Given the description of an element on the screen output the (x, y) to click on. 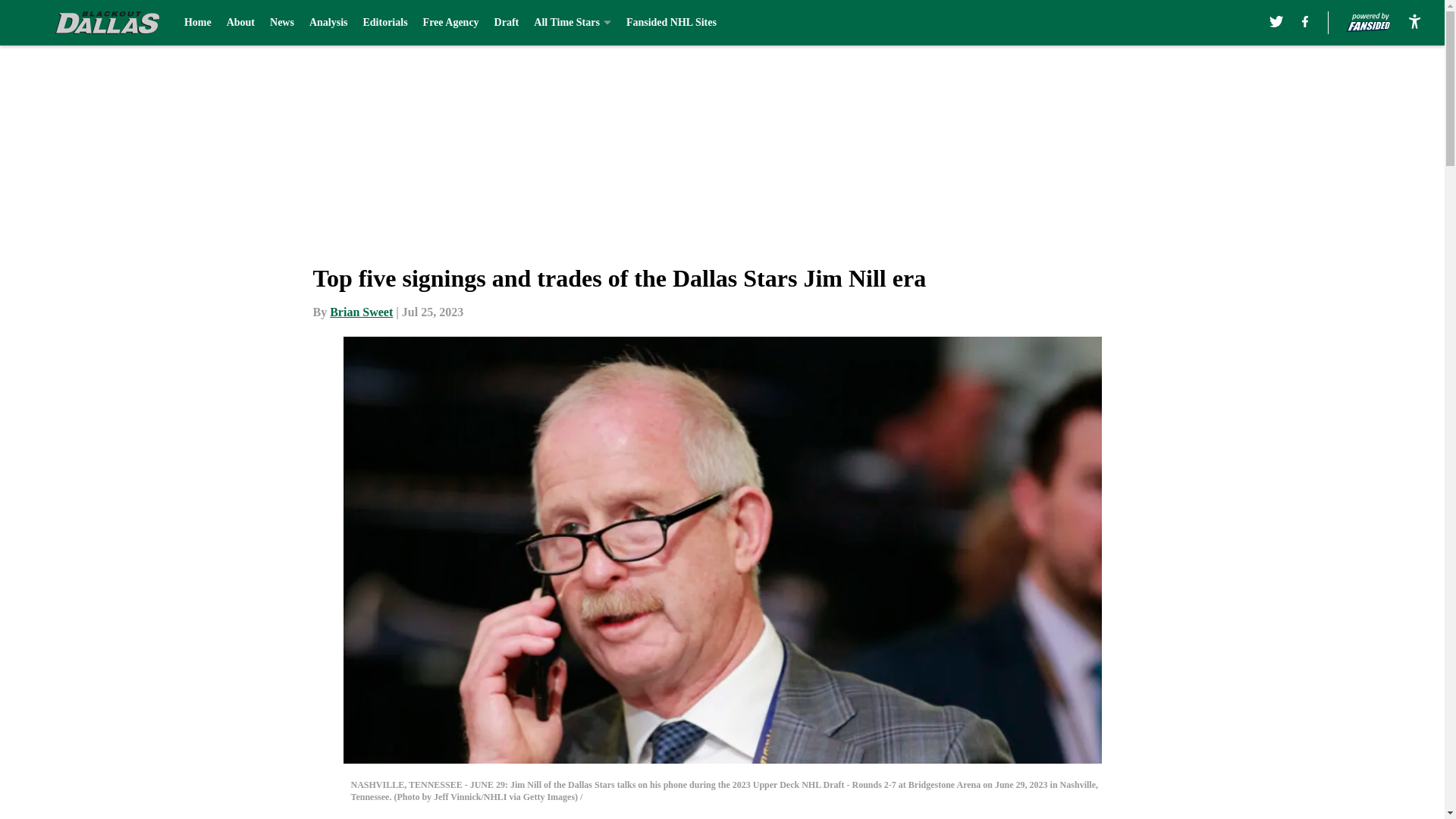
News (281, 22)
Fansided NHL Sites (671, 22)
Editorials (384, 22)
Brian Sweet (361, 311)
Analysis (327, 22)
Home (197, 22)
About (240, 22)
Free Agency (451, 22)
Draft (507, 22)
